Given the description of an element on the screen output the (x, y) to click on. 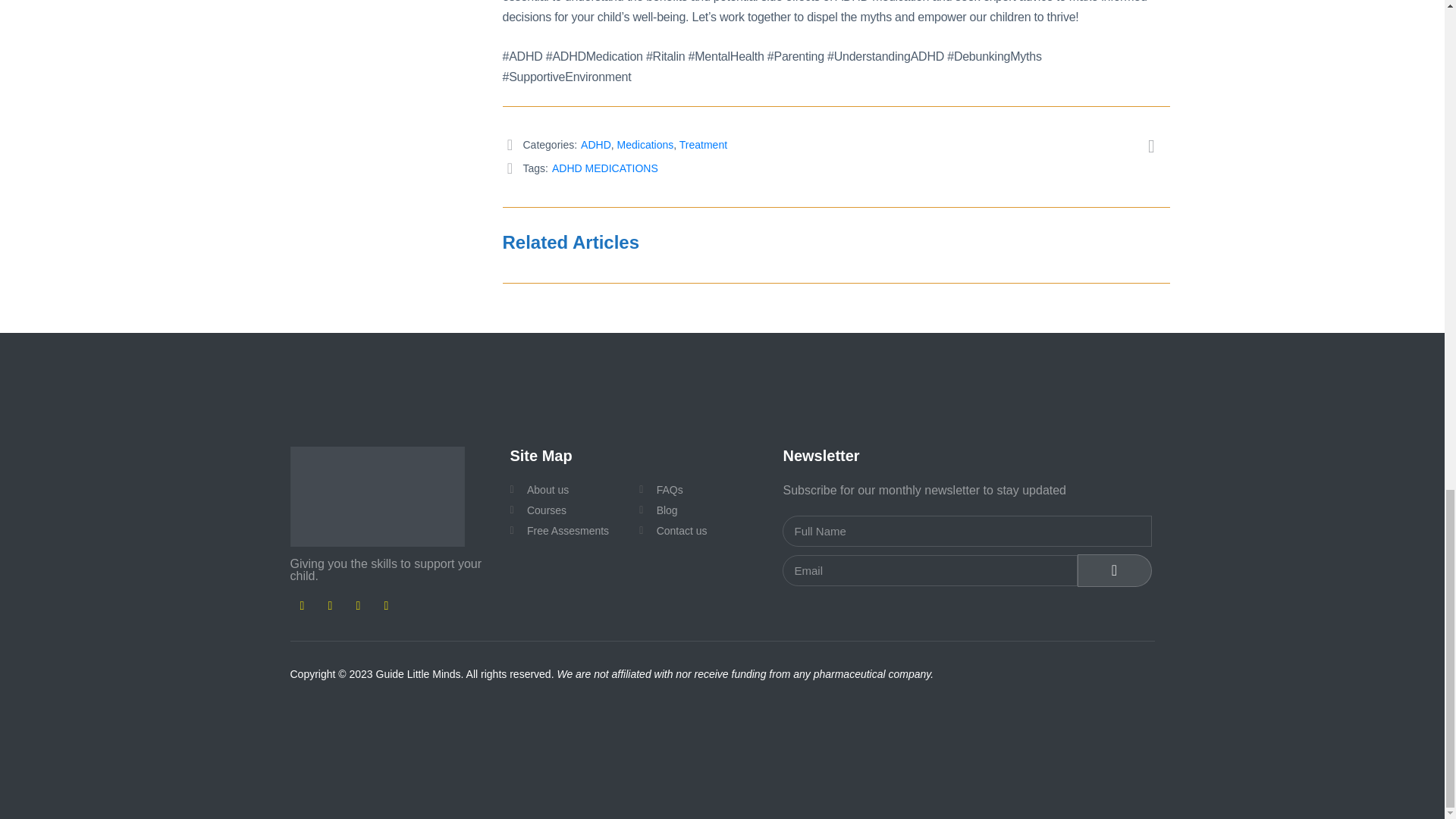
Medications (645, 144)
Treatment (702, 144)
ADHD (595, 144)
ADHD MEDICATIONS (604, 168)
